Given the description of an element on the screen output the (x, y) to click on. 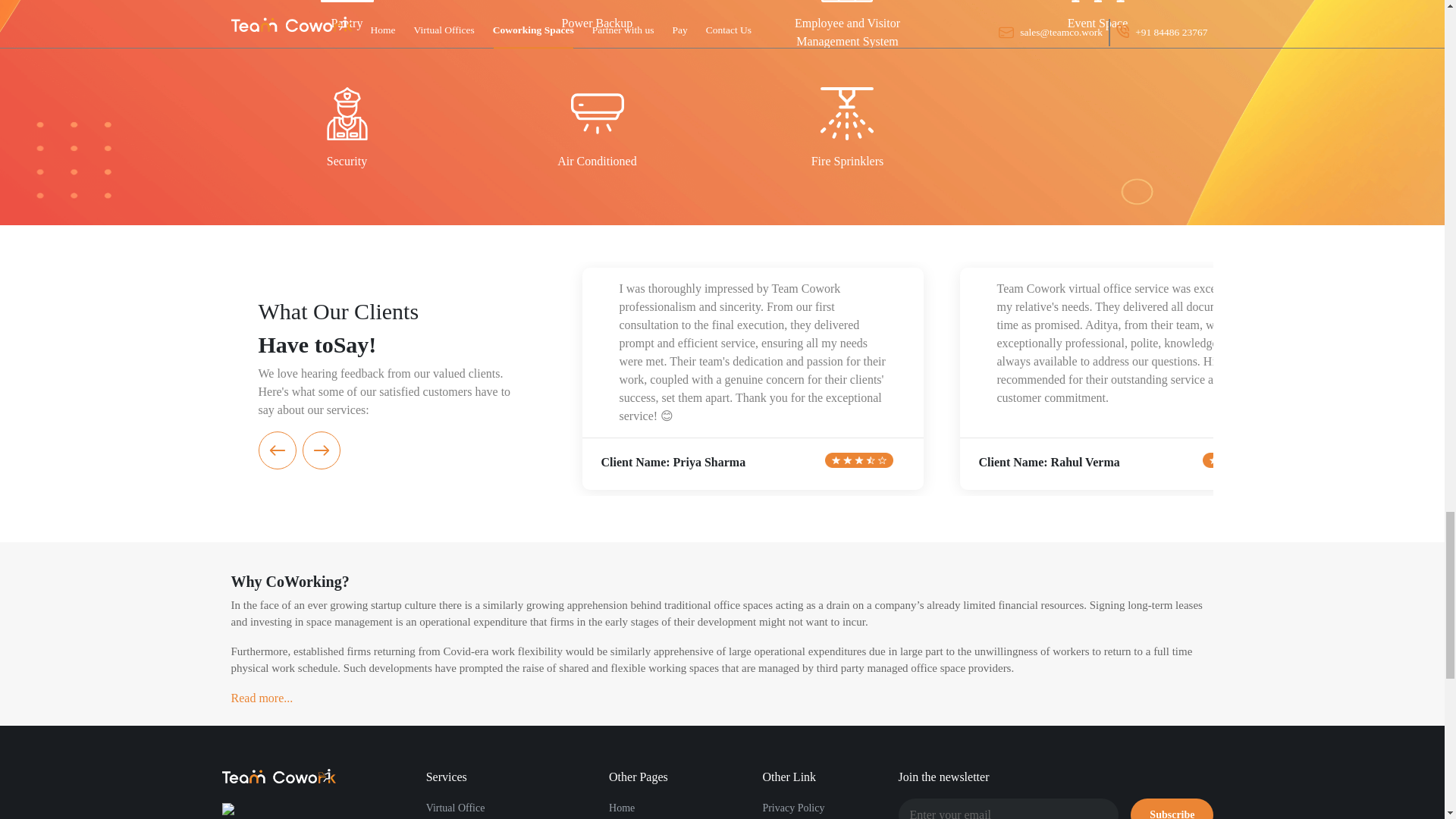
Virtual Office (455, 808)
Home (621, 808)
